Given the description of an element on the screen output the (x, y) to click on. 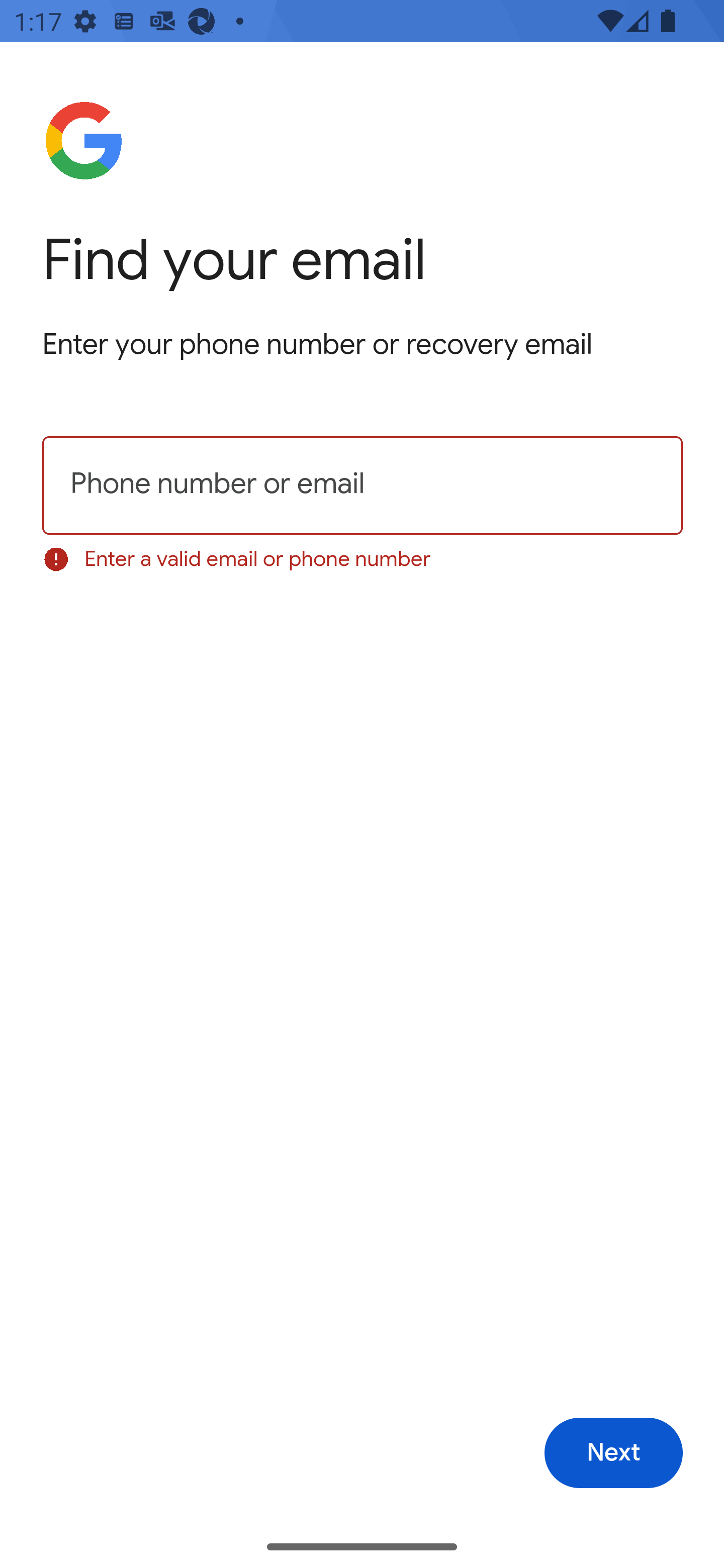
Next (613, 1453)
